Given the description of an element on the screen output the (x, y) to click on. 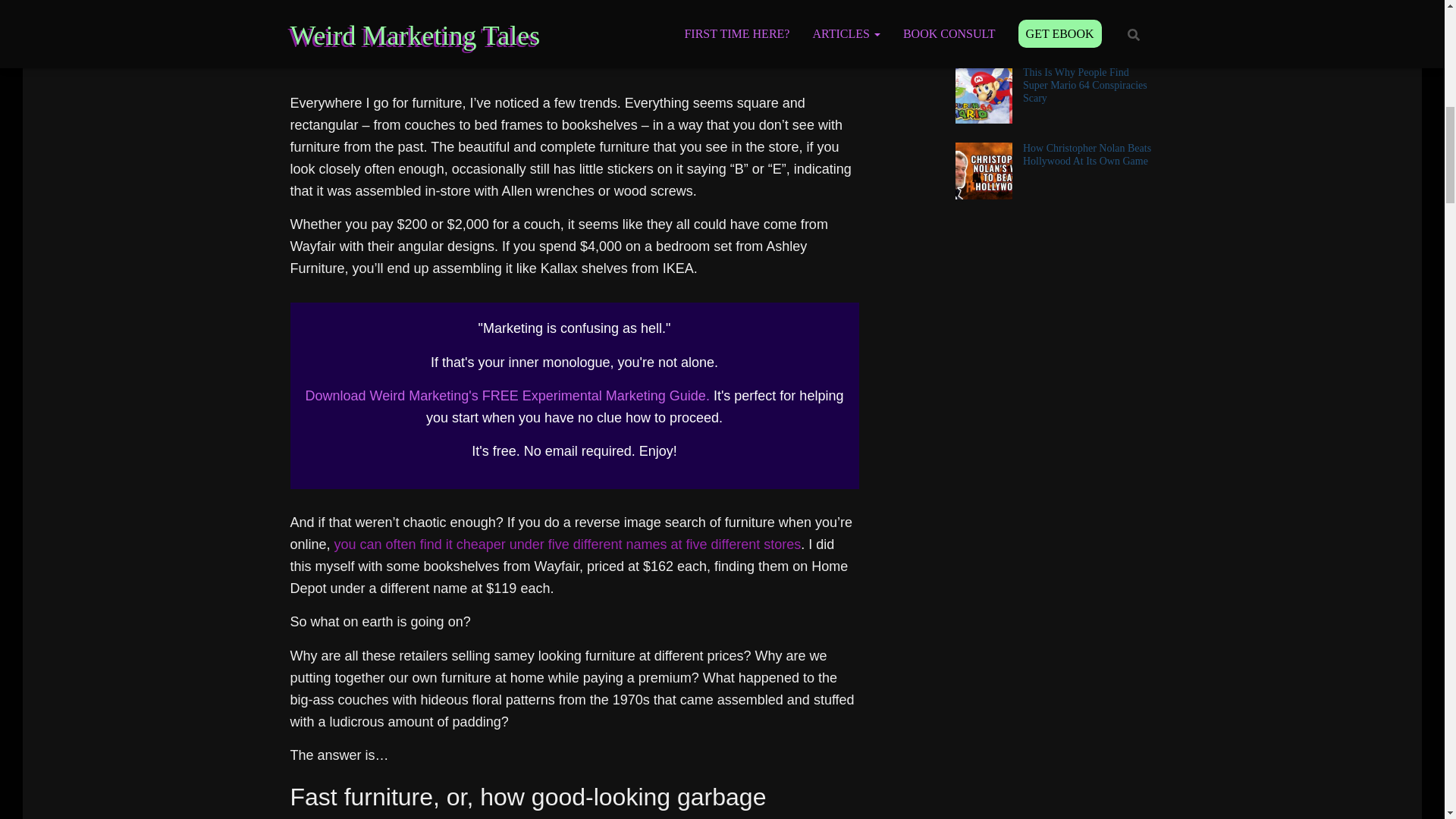
This Is Why People Find Super Mario 64 Conspiracies Scary (1085, 85)
How Christopher Nolan Beats Hollywood At Its Own Game (1087, 154)
Fight Club - Scene from the IKEA catalog (574, 46)
